Given the description of an element on the screen output the (x, y) to click on. 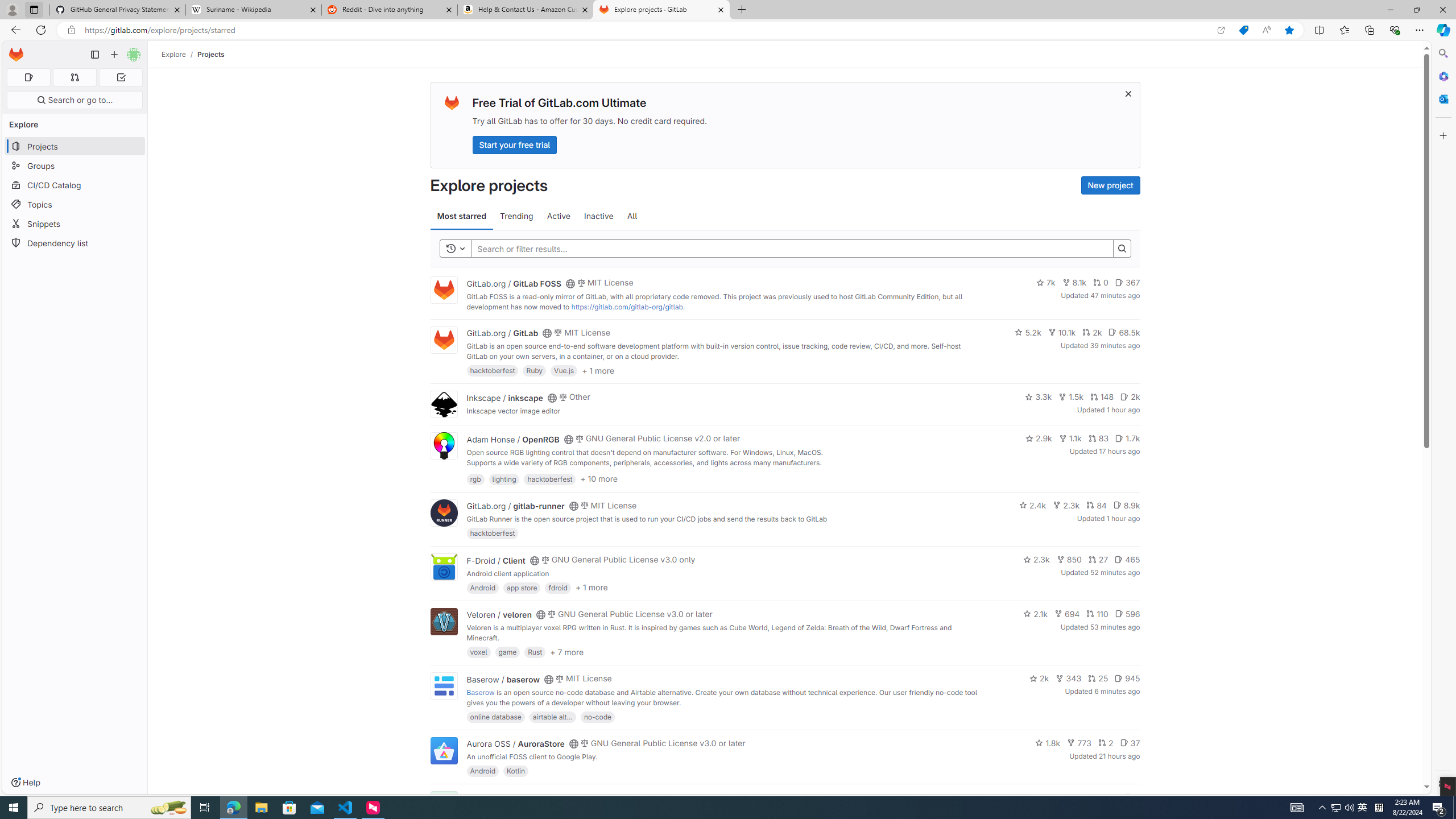
5.2k (1027, 331)
Open in app (1220, 29)
Groups (74, 165)
+ 7 more (566, 651)
8.9k (1126, 504)
2.9k (1038, 438)
148 (1101, 396)
CI/CD Catalog (74, 185)
Assigned issues 0 (28, 76)
All (632, 216)
1.8k (1048, 742)
3.3k (1038, 396)
F (443, 805)
